Given the description of an element on the screen output the (x, y) to click on. 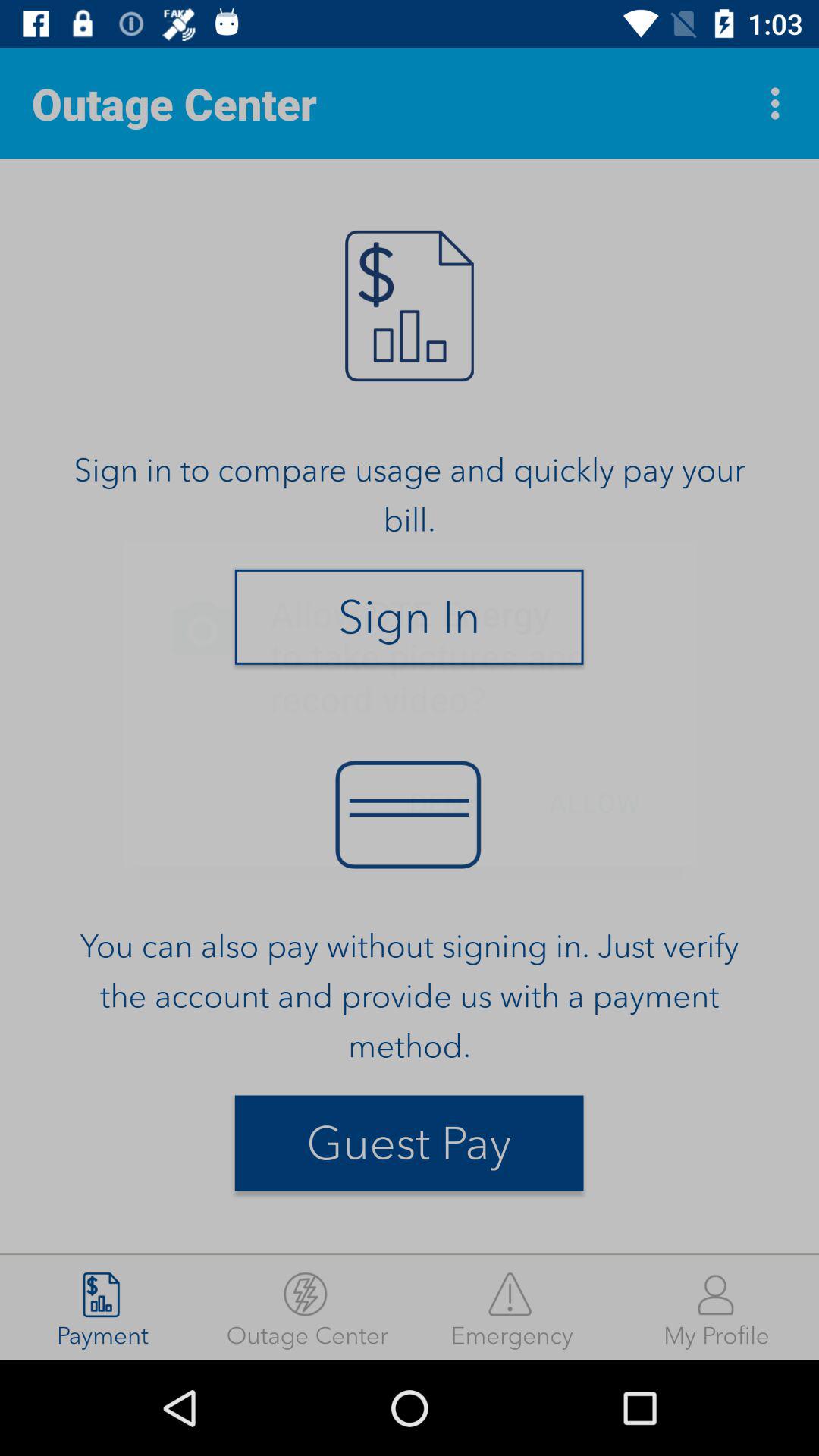
tap the item at the bottom right corner (716, 1307)
